Given the description of an element on the screen output the (x, y) to click on. 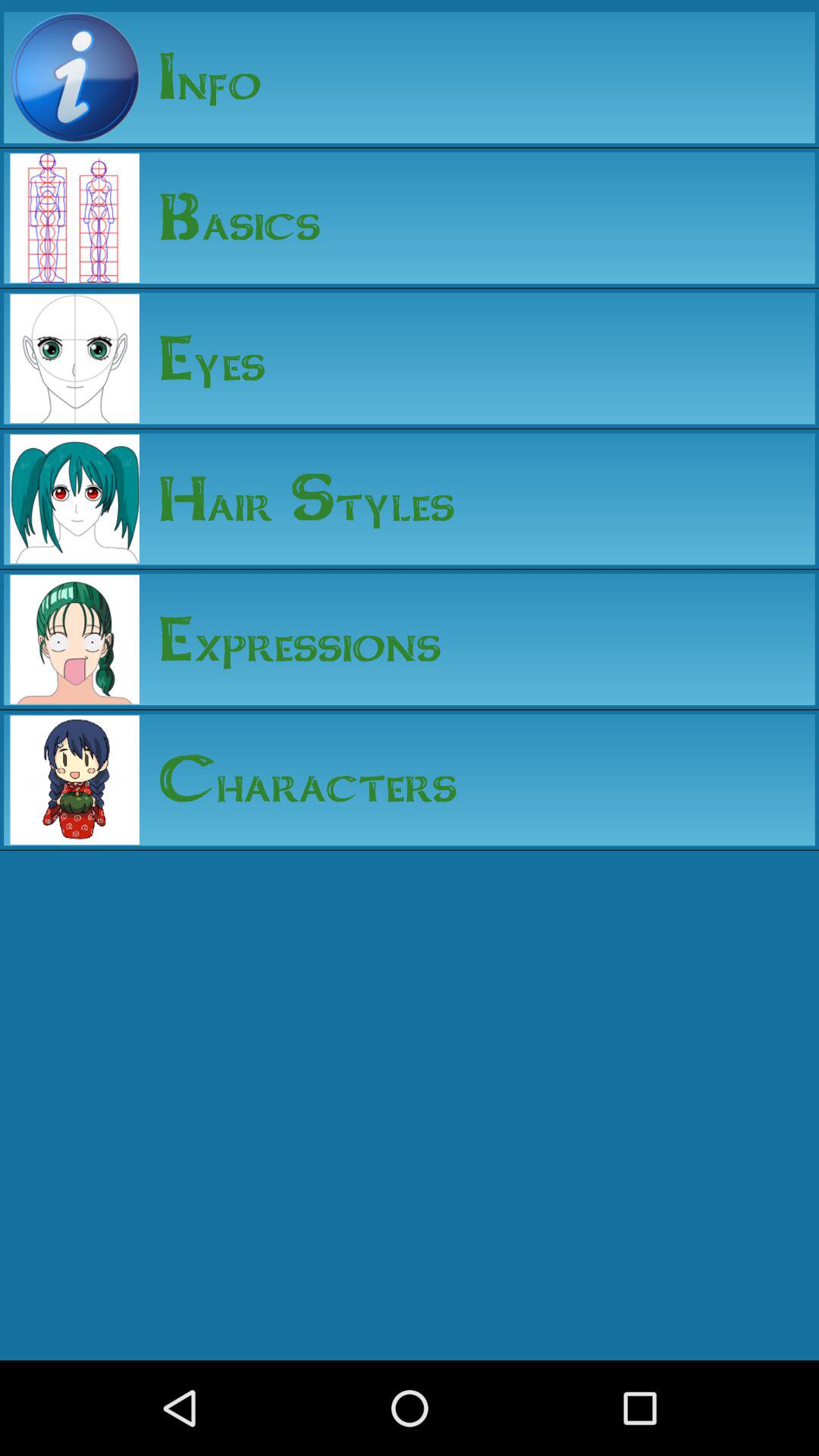
turn on the eyes app (202, 357)
